Given the description of an element on the screen output the (x, y) to click on. 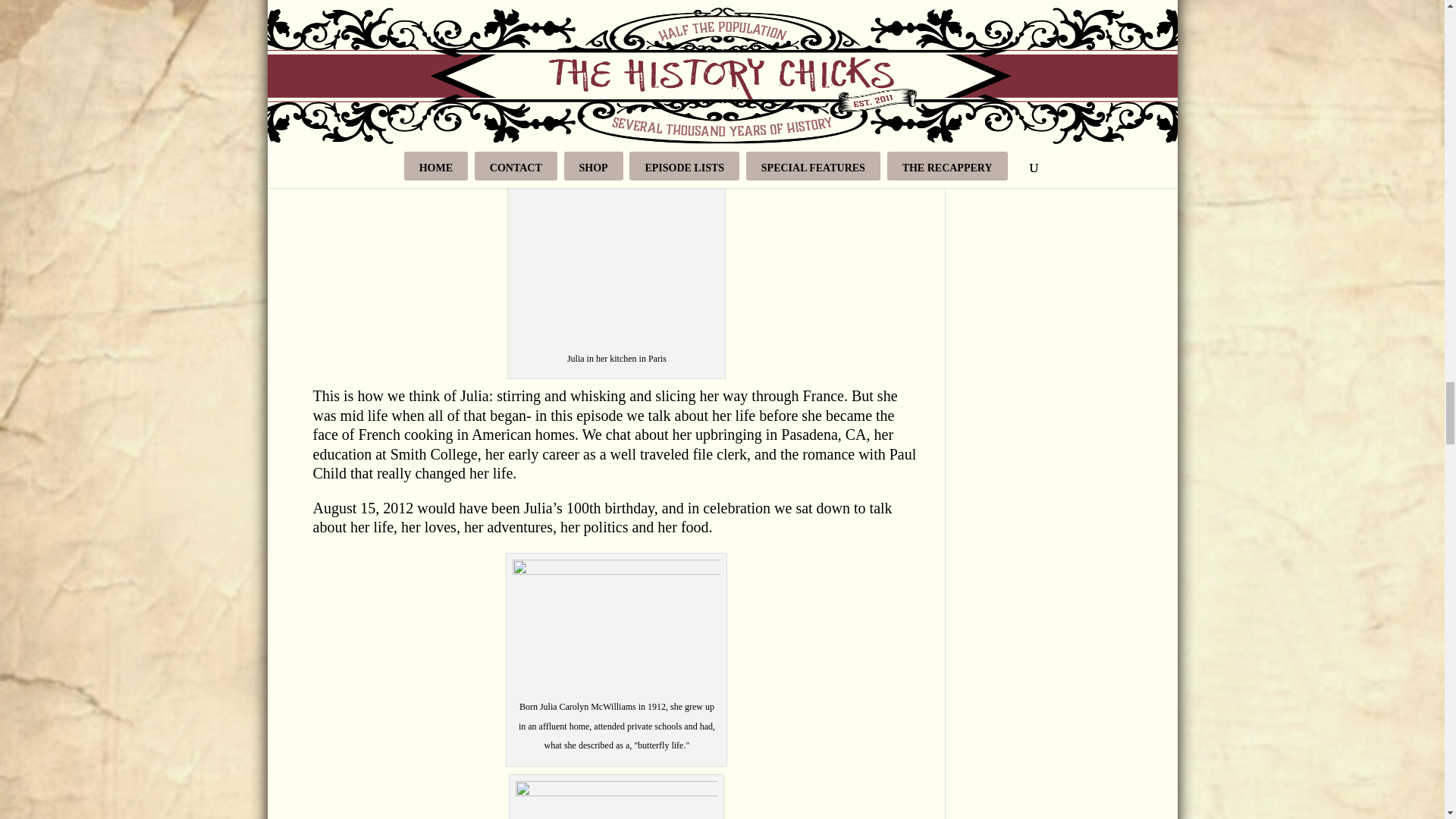
shrunkJuliaChildLG (615, 20)
JC childhood home (616, 628)
jc stove in france (616, 217)
